Given the description of an element on the screen output the (x, y) to click on. 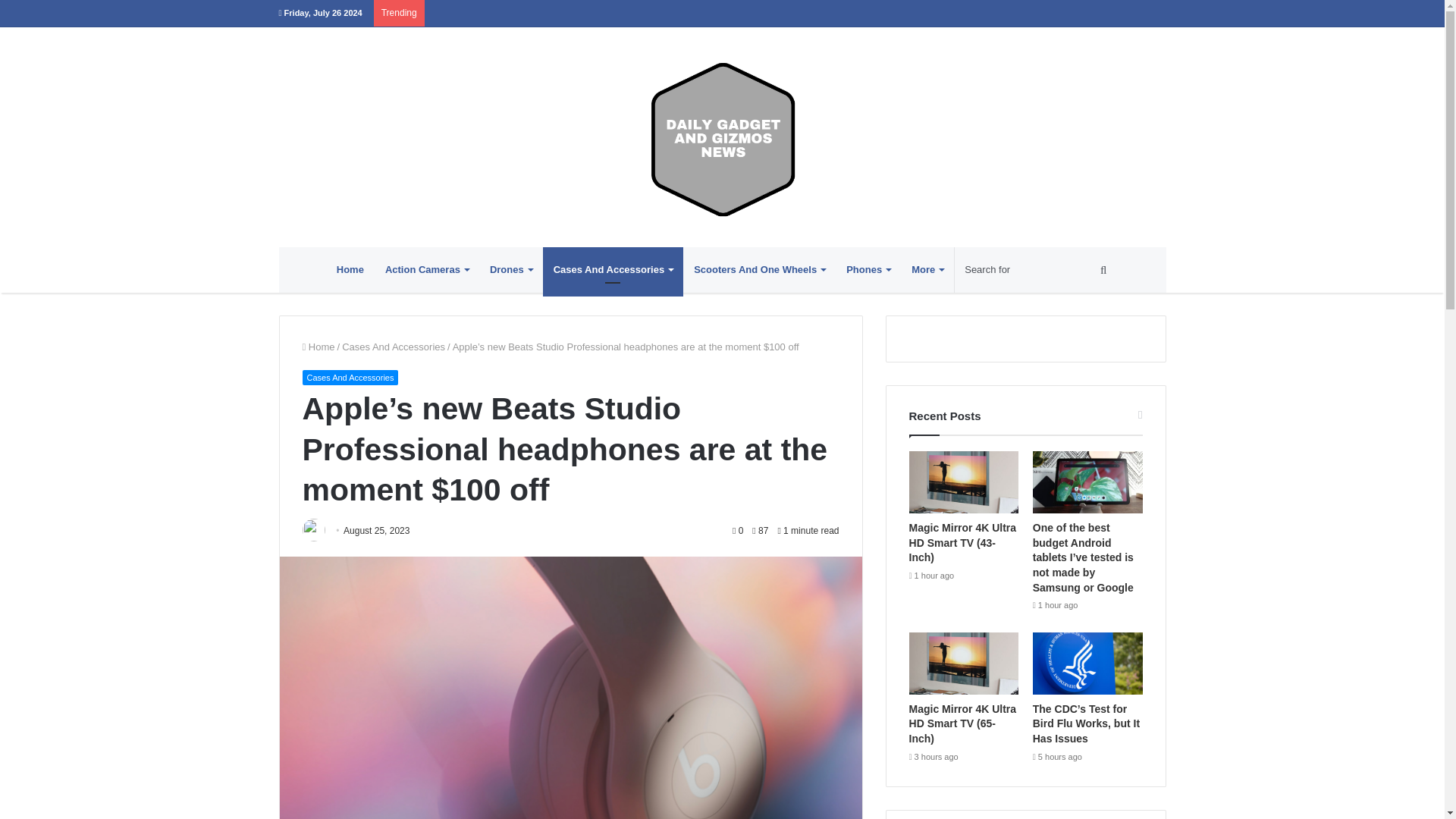
dailygadgetandgizmosnews.com (721, 137)
Scooters And One Wheels (758, 269)
More (927, 269)
Home (317, 346)
Cases And Accessories (393, 346)
Cases And Accessories (612, 269)
Cases And Accessories (349, 377)
Phones (868, 269)
Drones (511, 269)
0 (737, 530)
Home (350, 269)
Action Cameras (426, 269)
Search for (1036, 269)
